Given the description of an element on the screen output the (x, y) to click on. 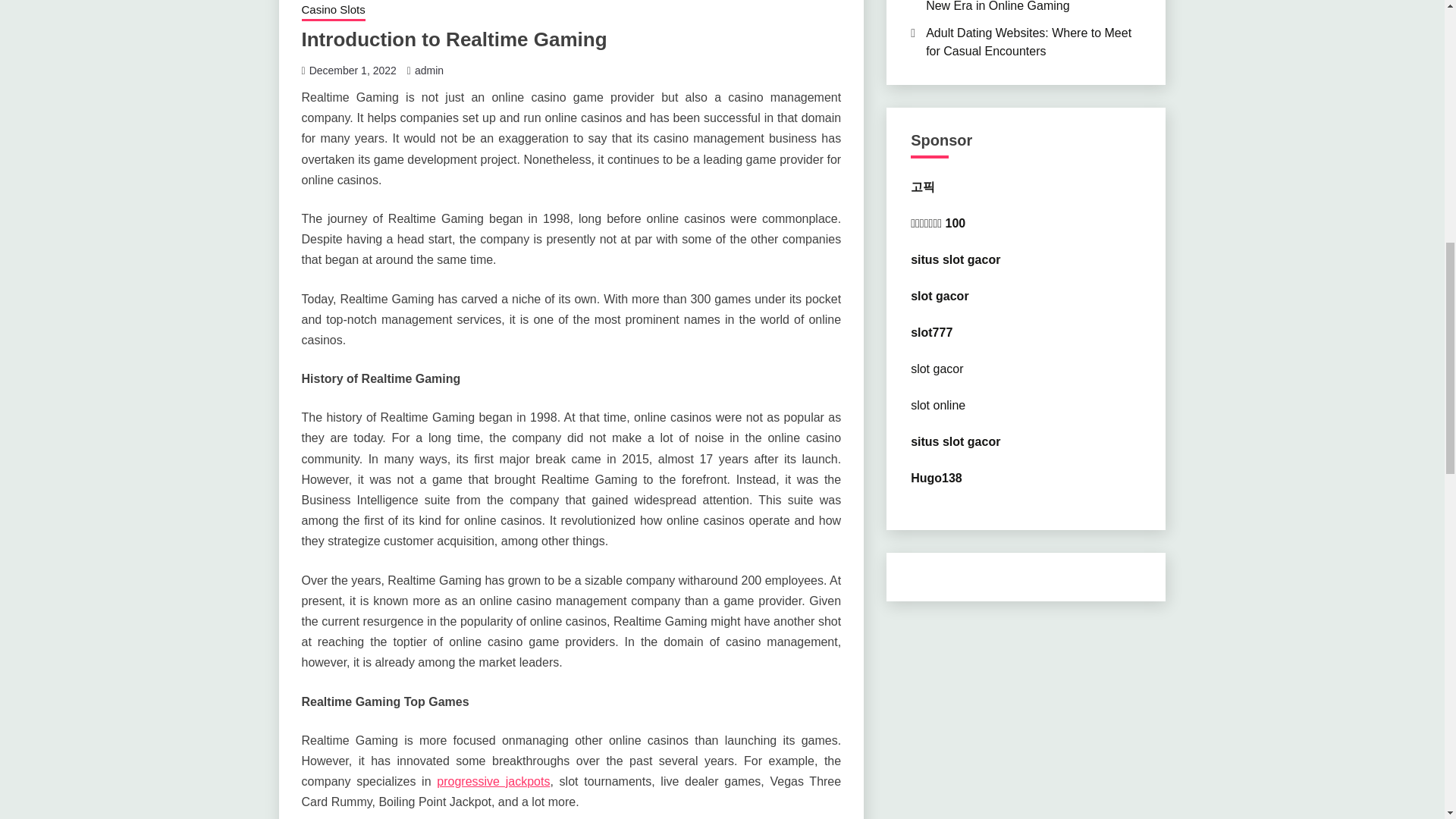
December 1, 2022 (352, 70)
Casino Slots (333, 11)
admin (429, 70)
progressive jackpots (493, 780)
